Given the description of an element on the screen output the (x, y) to click on. 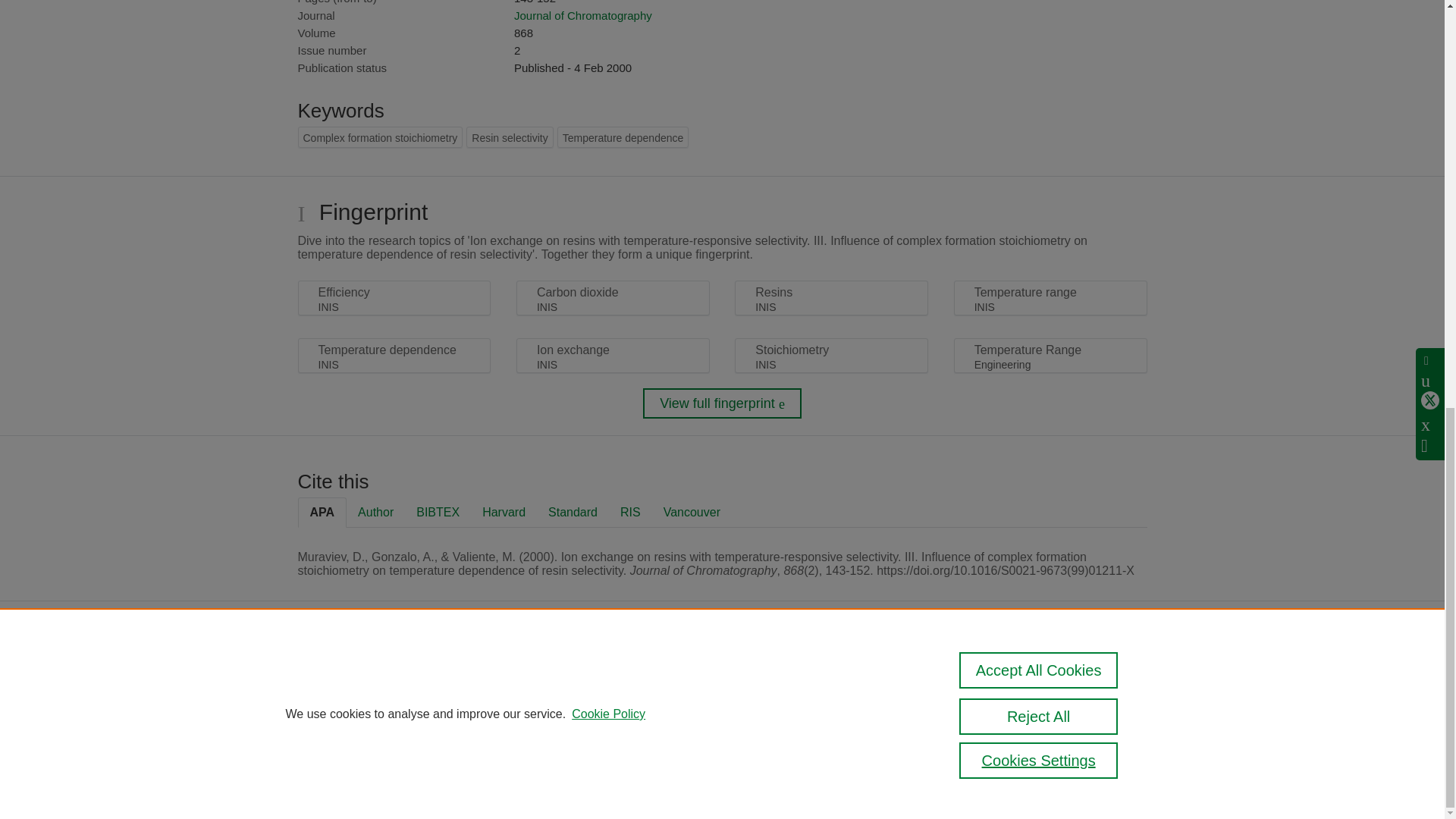
Pure (362, 676)
Scopus (394, 676)
View full fingerprint (722, 403)
Journal of Chromatography (582, 15)
